Given the description of an element on the screen output the (x, y) to click on. 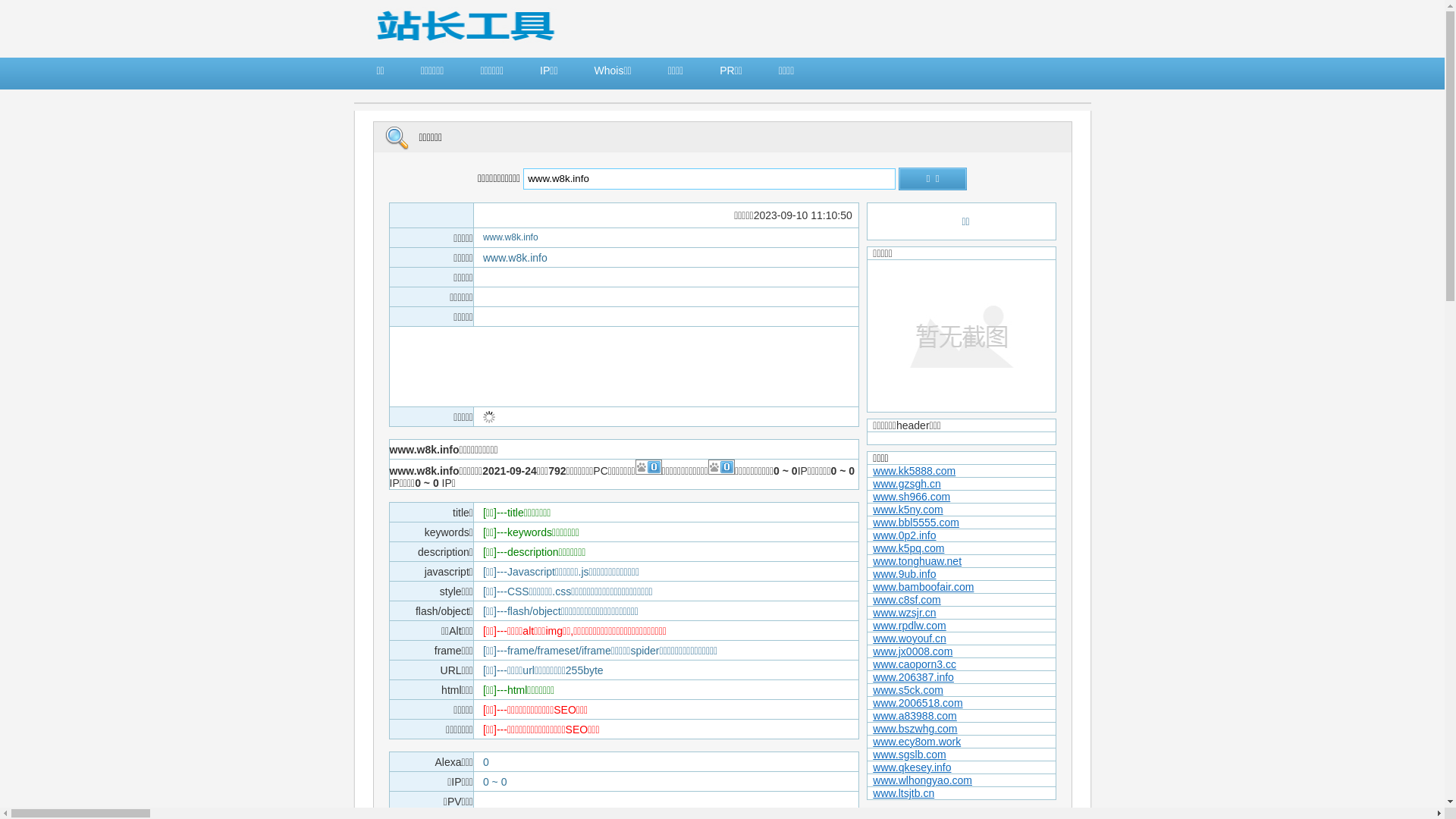
www.sh966.com Element type: text (911, 496)
www.wlhongyao.com Element type: text (922, 780)
www.gzsgh.cn Element type: text (906, 483)
www.ltsjtb.cn Element type: text (903, 793)
www.rpdlw.com Element type: text (908, 625)
www.9ub.info Element type: text (903, 573)
www.s5ck.com Element type: text (907, 690)
www.tonghuaw.net Element type: text (916, 561)
www.206387.info Element type: text (912, 677)
www.k5pq.com Element type: text (908, 548)
www.kk5888.com Element type: text (913, 470)
www.wzsjr.cn Element type: text (903, 612)
www.caoporn3.cc Element type: text (914, 664)
www.jx0008.com Element type: text (912, 651)
www.c8sf.com Element type: text (906, 599)
www.sgslb.com Element type: text (908, 754)
www.a83988.com Element type: text (914, 715)
www.woyouf.cn Element type: text (908, 638)
www.bszwhg.com Element type: text (914, 728)
www.bbl5555.com Element type: text (915, 522)
www.bamboofair.com Element type: text (922, 586)
www.k5ny.com Element type: text (907, 509)
www.qkesey.info Element type: text (911, 767)
www.2006518.com Element type: text (917, 702)
www.0p2.info Element type: text (903, 535)
www.ecy8om.work Element type: text (916, 741)
